Given the description of an element on the screen output the (x, y) to click on. 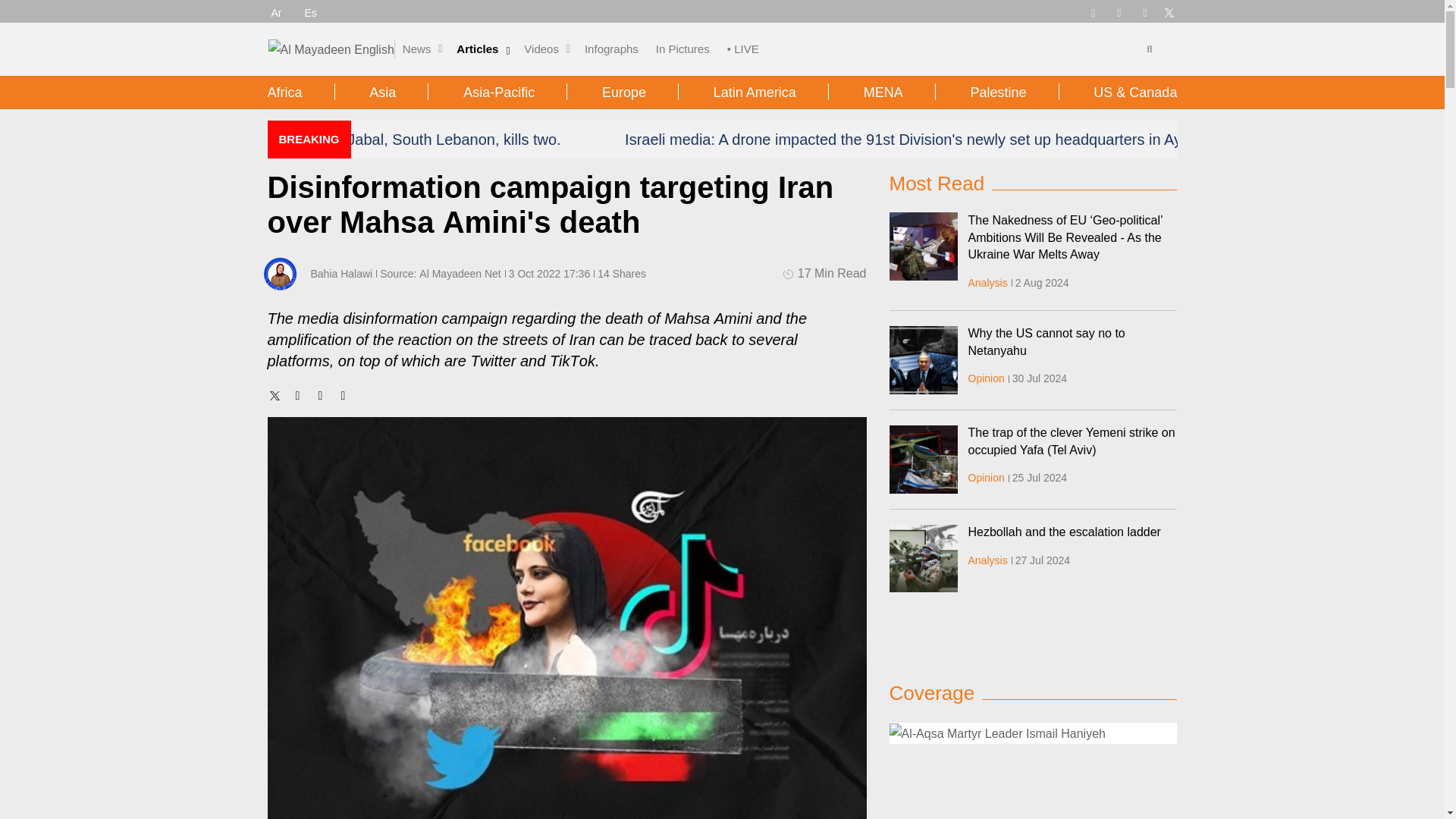
Al-Aqsa Martyr Leader Ismail Haniyeh (1032, 732)
Opinion (986, 477)
Infographs (612, 48)
In Pictures (683, 48)
Al-Aqsa Martyr Leader Ismail Haniyeh (996, 733)
Telegram (1092, 11)
Videos (541, 48)
Opinion (986, 378)
Hezbollah and the escalation ladder (922, 558)
Analysis (987, 282)
